Given the description of an element on the screen output the (x, y) to click on. 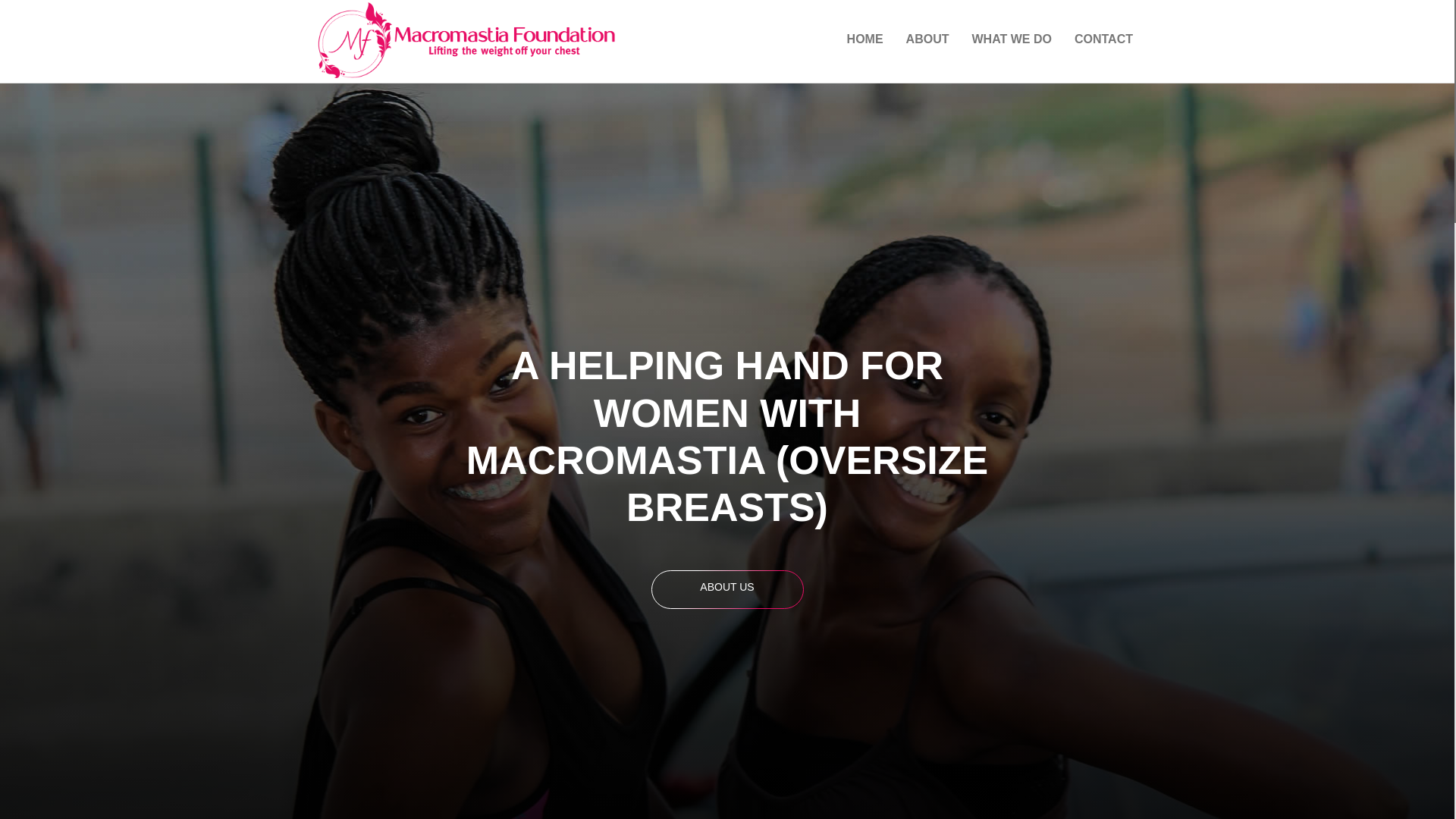
CONTACT (1103, 39)
WHAT WE DO (1011, 39)
HOME (864, 39)
ABOUT US (727, 587)
ABOUT (927, 39)
